Given the description of an element on the screen output the (x, y) to click on. 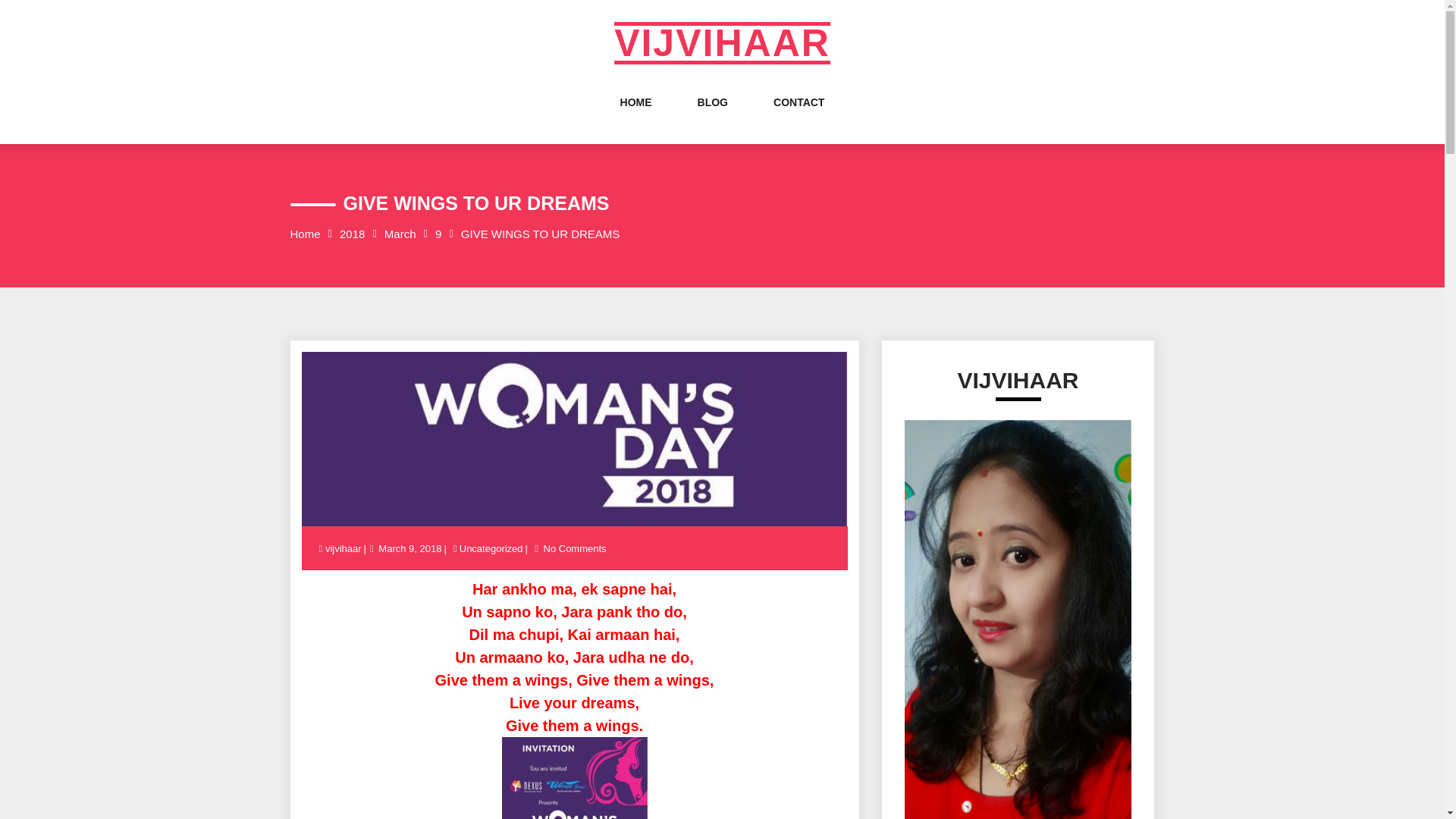
March (400, 233)
Home (304, 233)
VIJVIHAAR (721, 43)
Uncategorized (491, 548)
No Comments (574, 548)
vijvihaar (344, 548)
CONTACT (798, 117)
2018 (352, 233)
March 9, 2018 (409, 548)
